Given the description of an element on the screen output the (x, y) to click on. 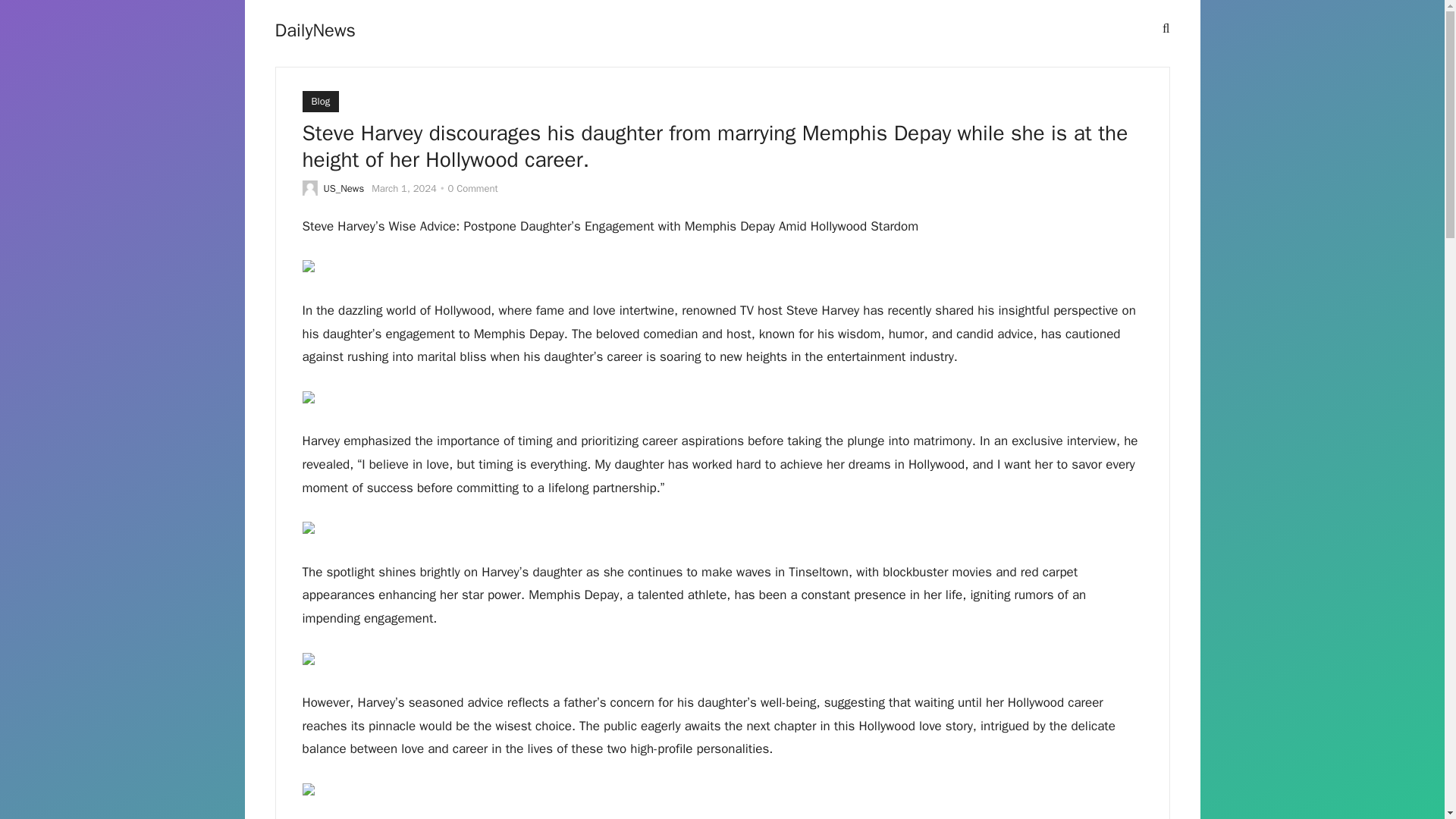
0 Comment (471, 187)
DailyNews (315, 30)
Blog (320, 101)
